Given the description of an element on the screen output the (x, y) to click on. 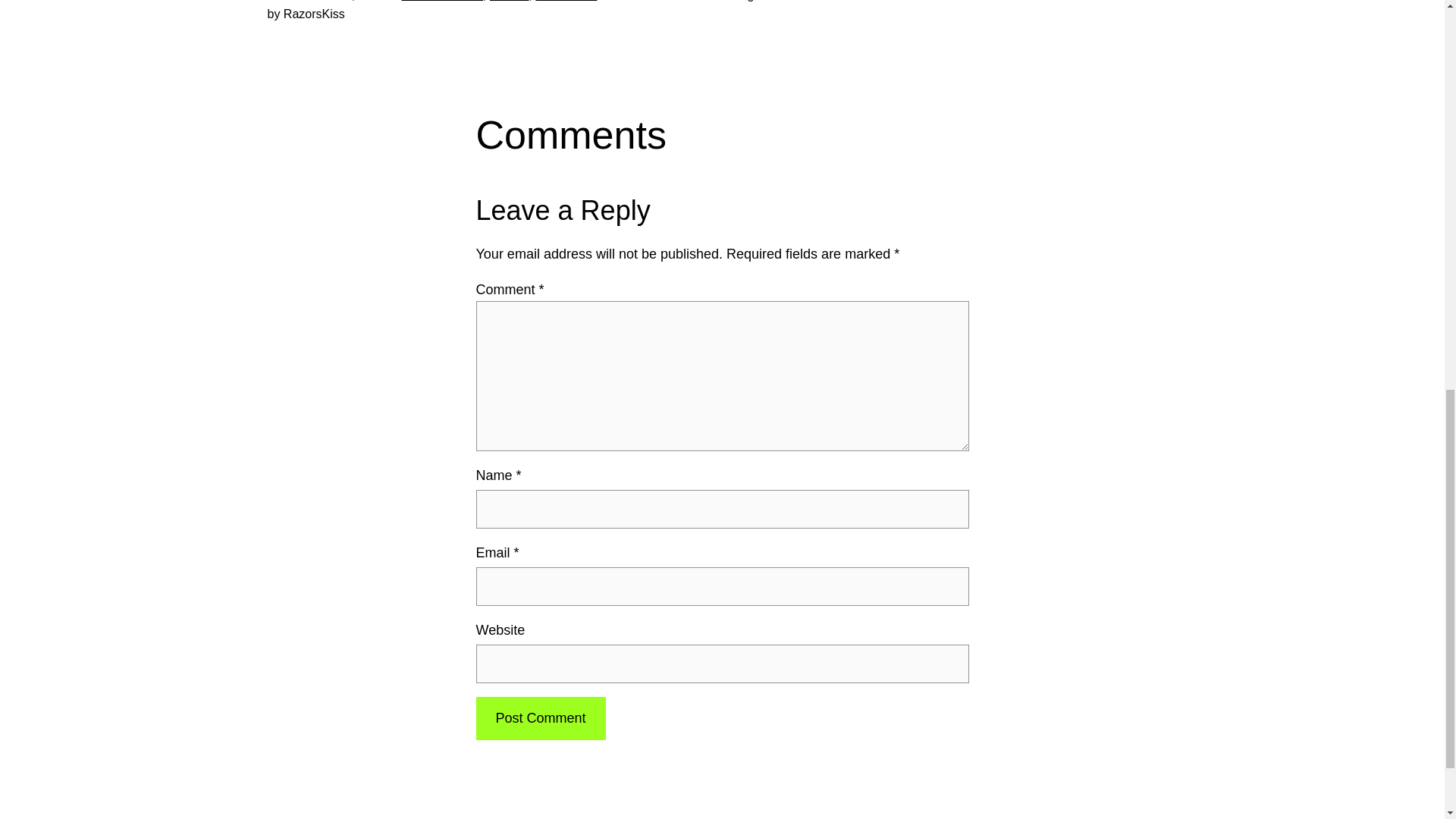
Post Comment (540, 718)
